Given the description of an element on the screen output the (x, y) to click on. 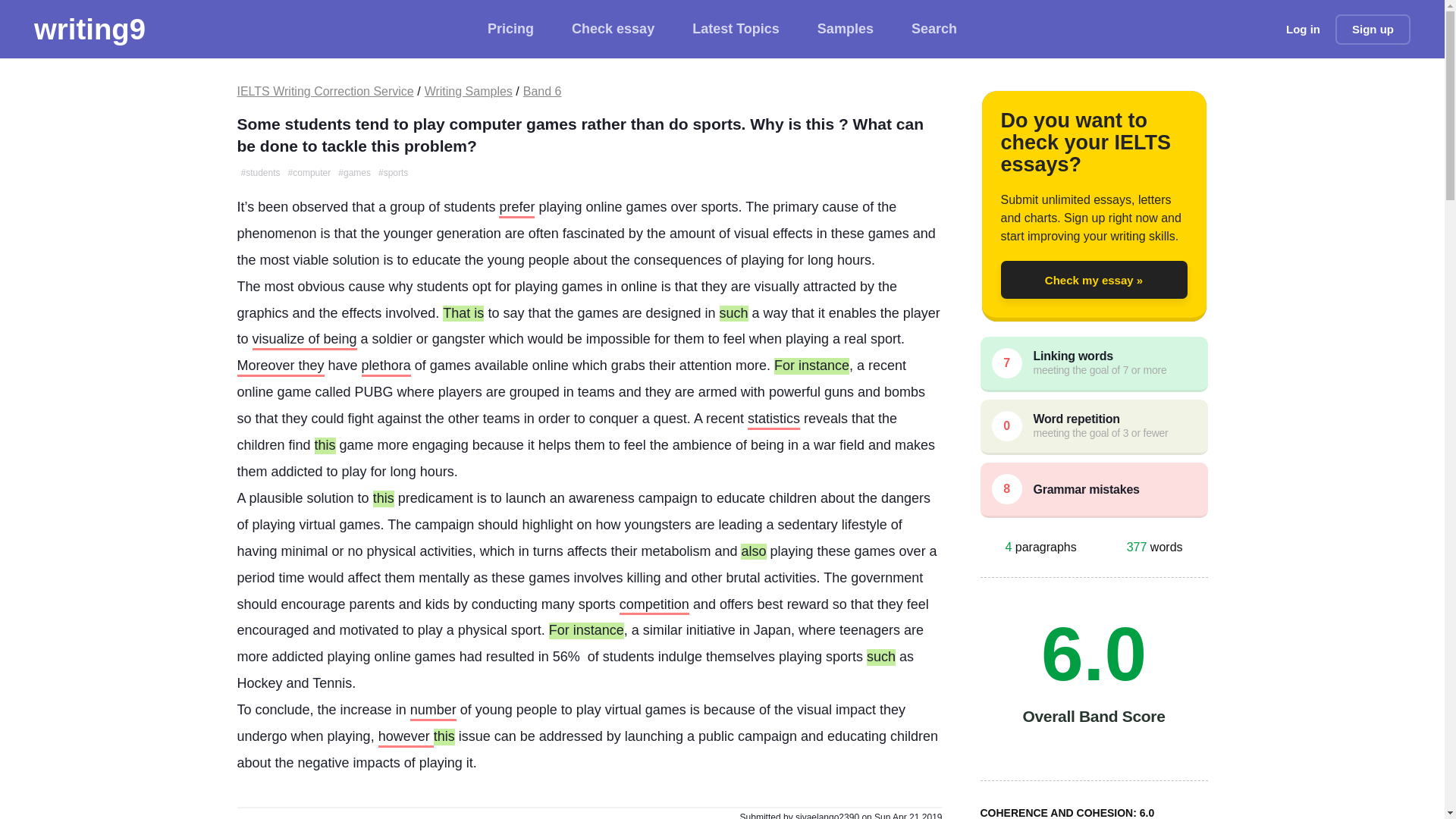
Log in (1303, 28)
Latest Topics (734, 29)
IELTS Writing Correction Service (324, 91)
IELTS Essay Checker (89, 28)
Samples (844, 29)
Sign up (1372, 28)
Band 6 (542, 91)
writing9 (89, 28)
Log in (1303, 29)
Check essay (612, 29)
Writing Samples (468, 91)
Pricing (510, 29)
